Given the description of an element on the screen output the (x, y) to click on. 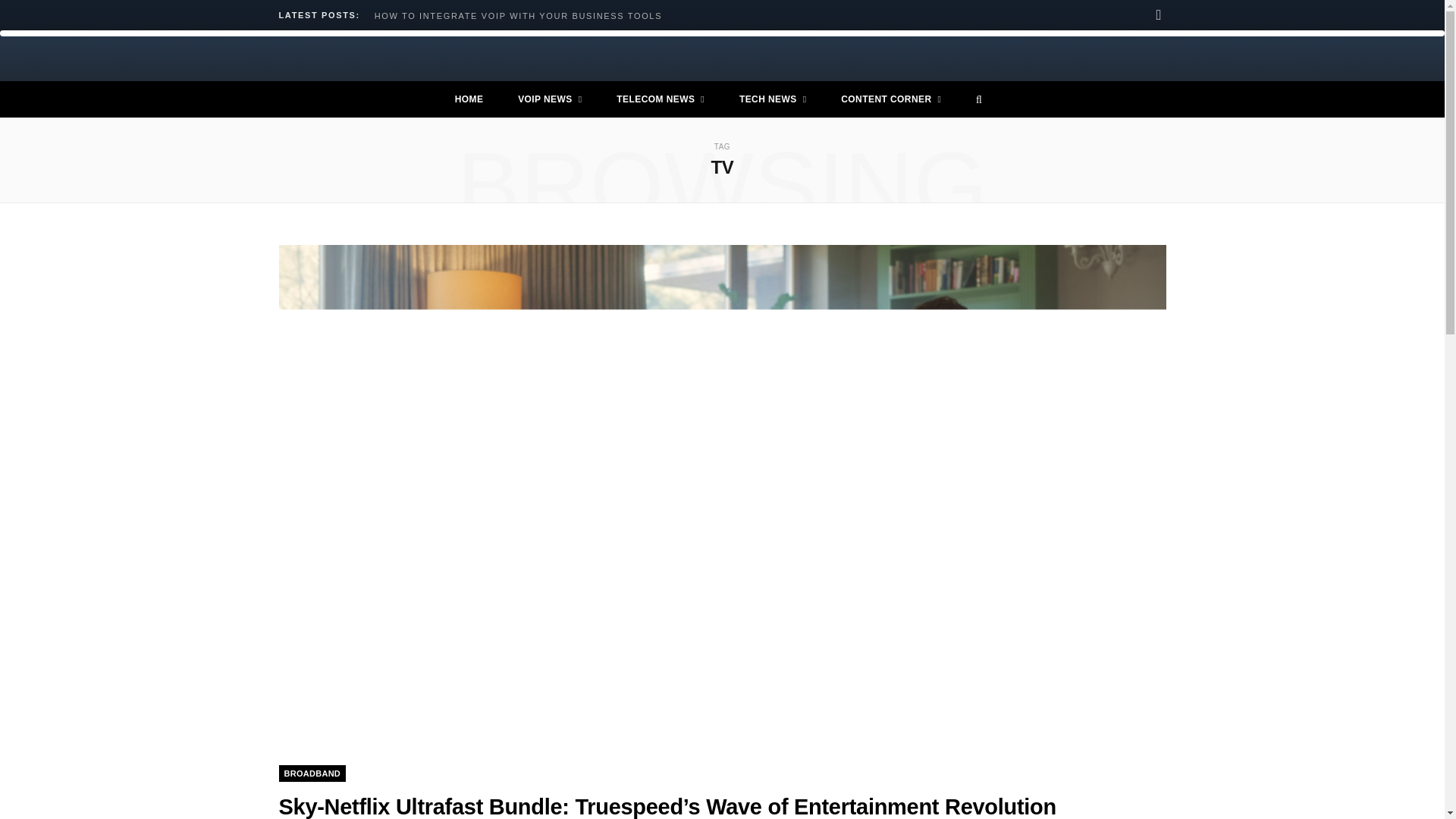
HOW TO INTEGRATE VOIP WITH YOUR BUSINESS TOOLS (521, 15)
TELECOM NEWS (659, 99)
HOME (469, 99)
VOIP NEWS (549, 99)
Twitter (1158, 15)
TECH NEWS (772, 99)
Search (974, 99)
How to Integrate VoIP with Your Business Tools (521, 15)
CONTENT CORNER (890, 99)
